Given the description of an element on the screen output the (x, y) to click on. 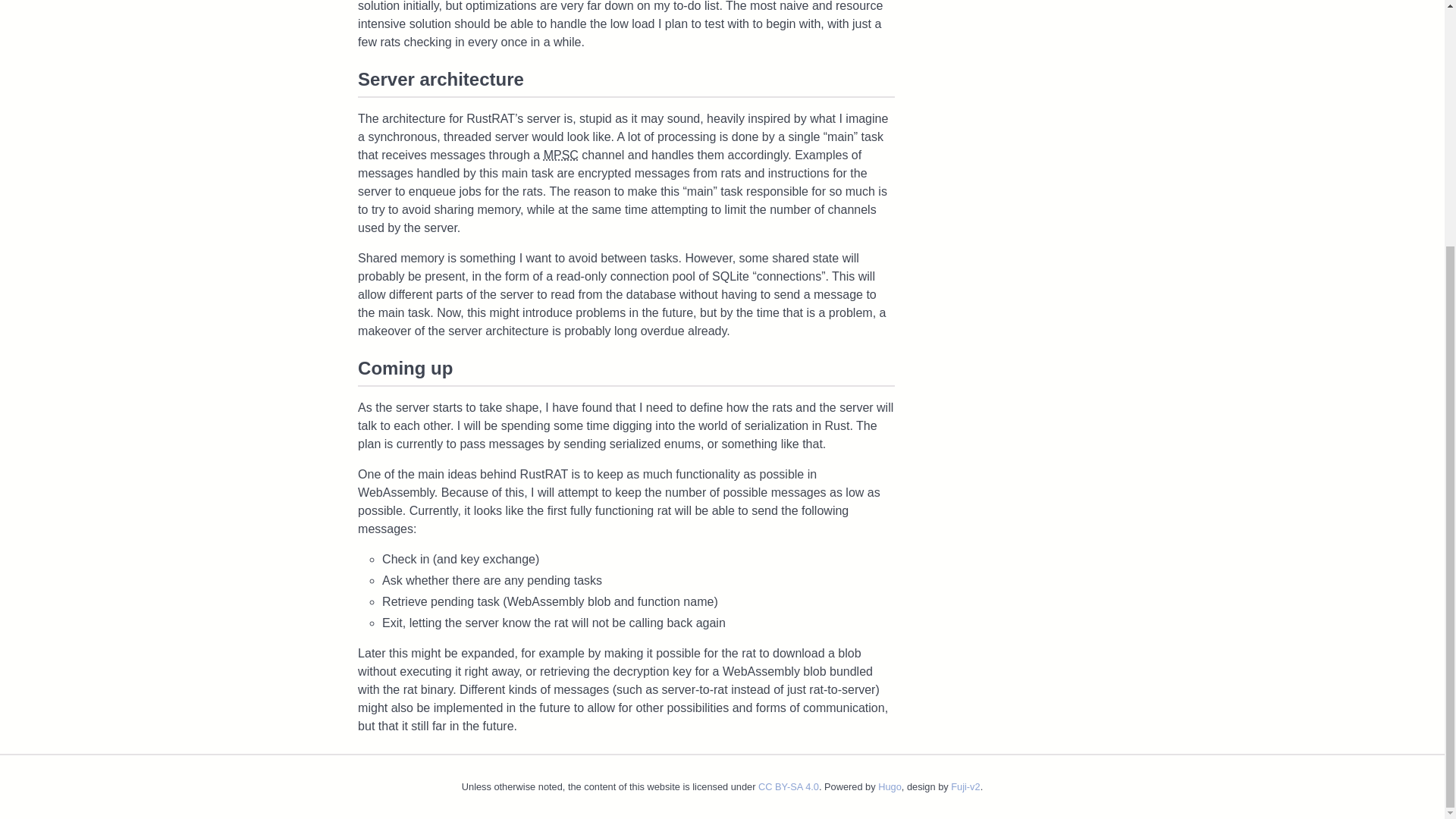
Multi-Producer, Single Consumer (560, 154)
CC BY-SA 4.0 (788, 786)
Hugo (889, 786)
Fuji-v2 (964, 786)
